Given the description of an element on the screen output the (x, y) to click on. 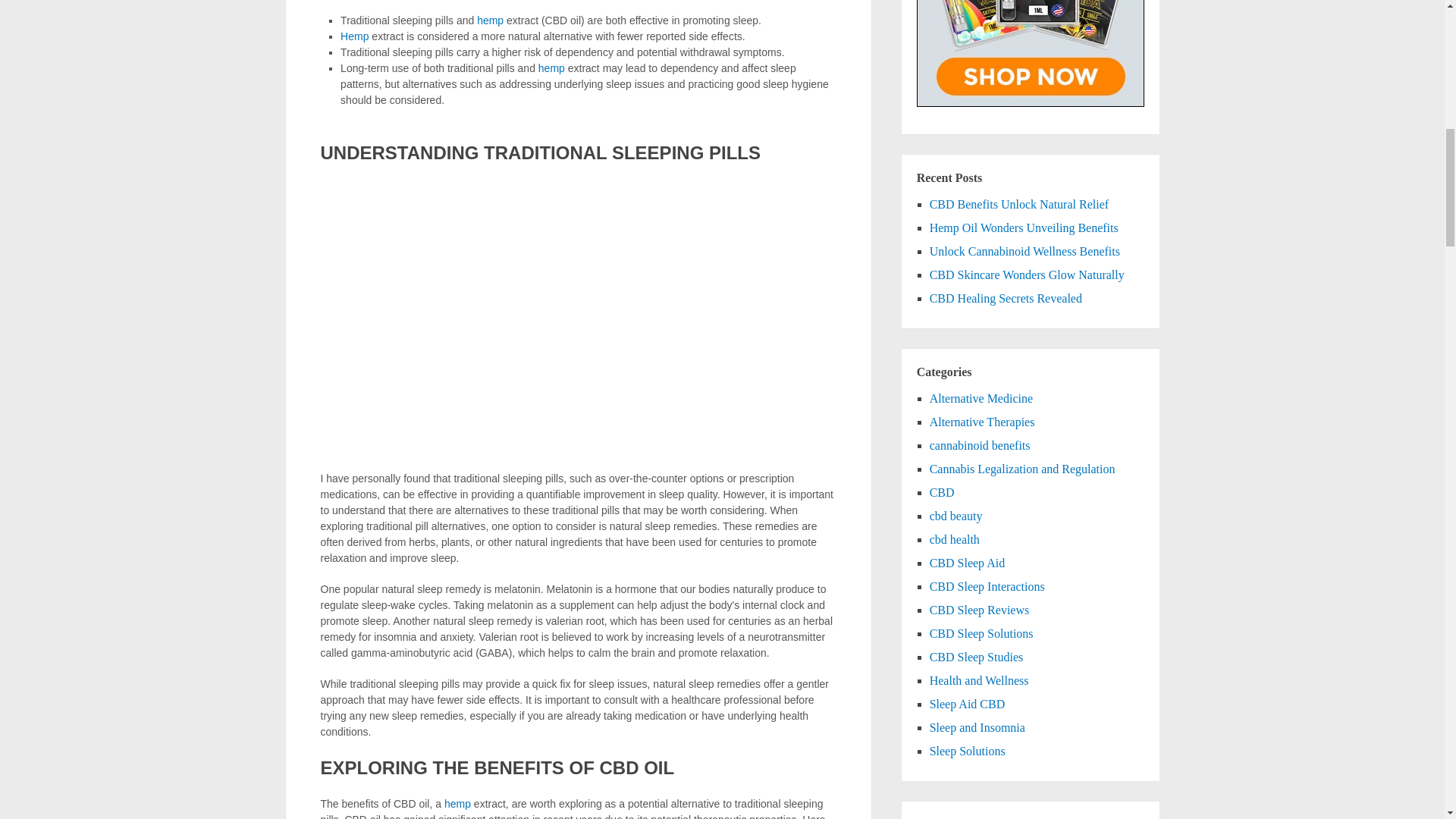
hemp (551, 68)
hemp (457, 803)
Hemp (354, 36)
hemp (490, 20)
hemp (490, 20)
Hemp (354, 36)
hemp (551, 68)
hemp (457, 803)
